Given the description of an element on the screen output the (x, y) to click on. 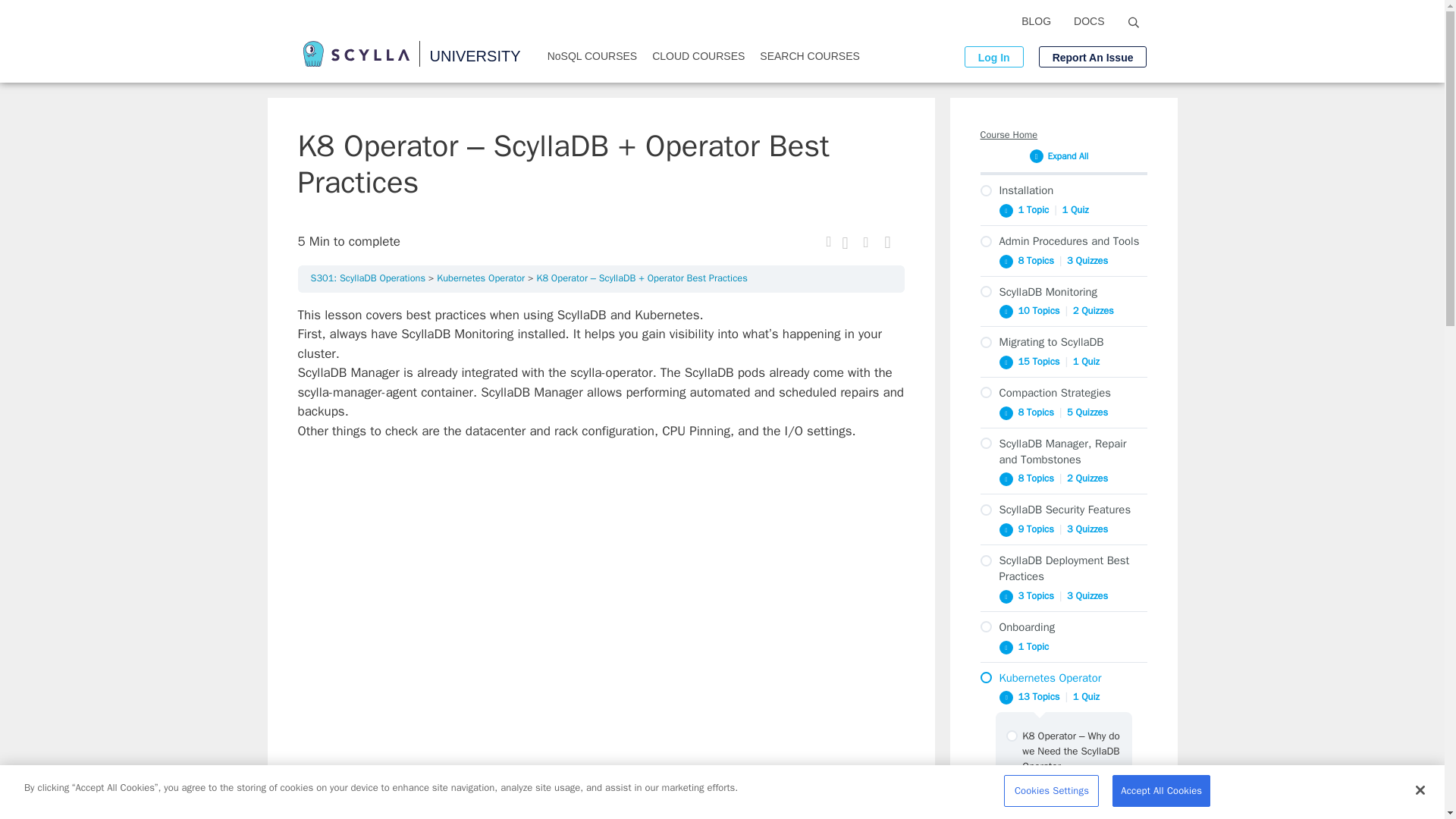
Admin Procedures and Tools (1063, 241)
S301: ScyllaDB Operations (368, 277)
Report An Issue (1093, 55)
DOCS (1088, 20)
Search (1137, 22)
SEARCH COURSES (809, 55)
NoSQL COURSES (592, 55)
BLOG (1036, 20)
Course Home (1063, 134)
Kubernetes Operator (480, 277)
Log In (993, 55)
CLOUD COURSES (698, 55)
Installation (1063, 190)
UNIVERSITY (474, 55)
